Given the description of an element on the screen output the (x, y) to click on. 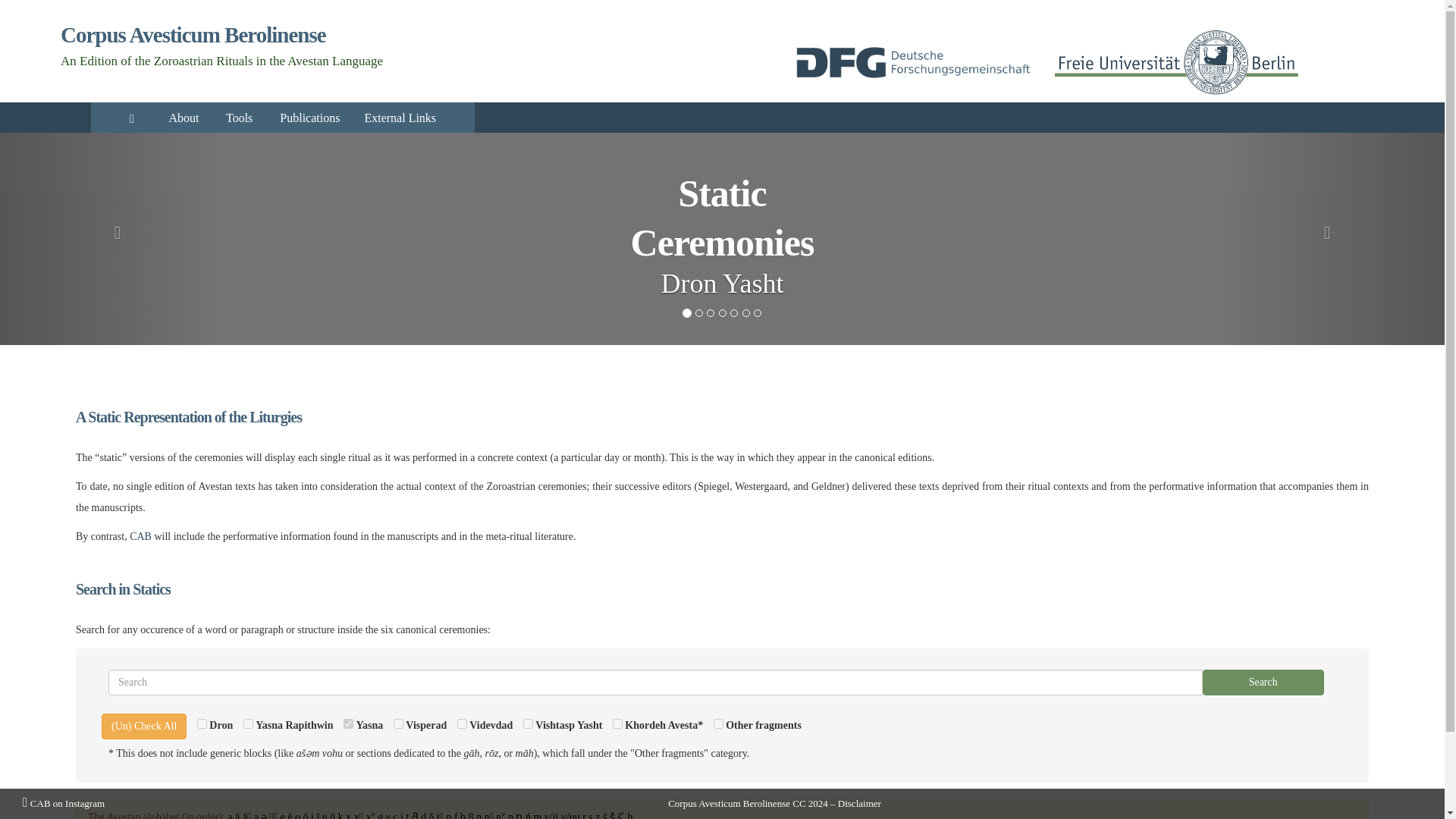
0 (201, 723)
CAB on Instagram (63, 803)
0 (617, 723)
0 (718, 723)
Publications (309, 117)
Dron Yasht (722, 284)
0 (527, 723)
CAB (140, 536)
1 (348, 723)
Tools (240, 117)
